Given the description of an element on the screen output the (x, y) to click on. 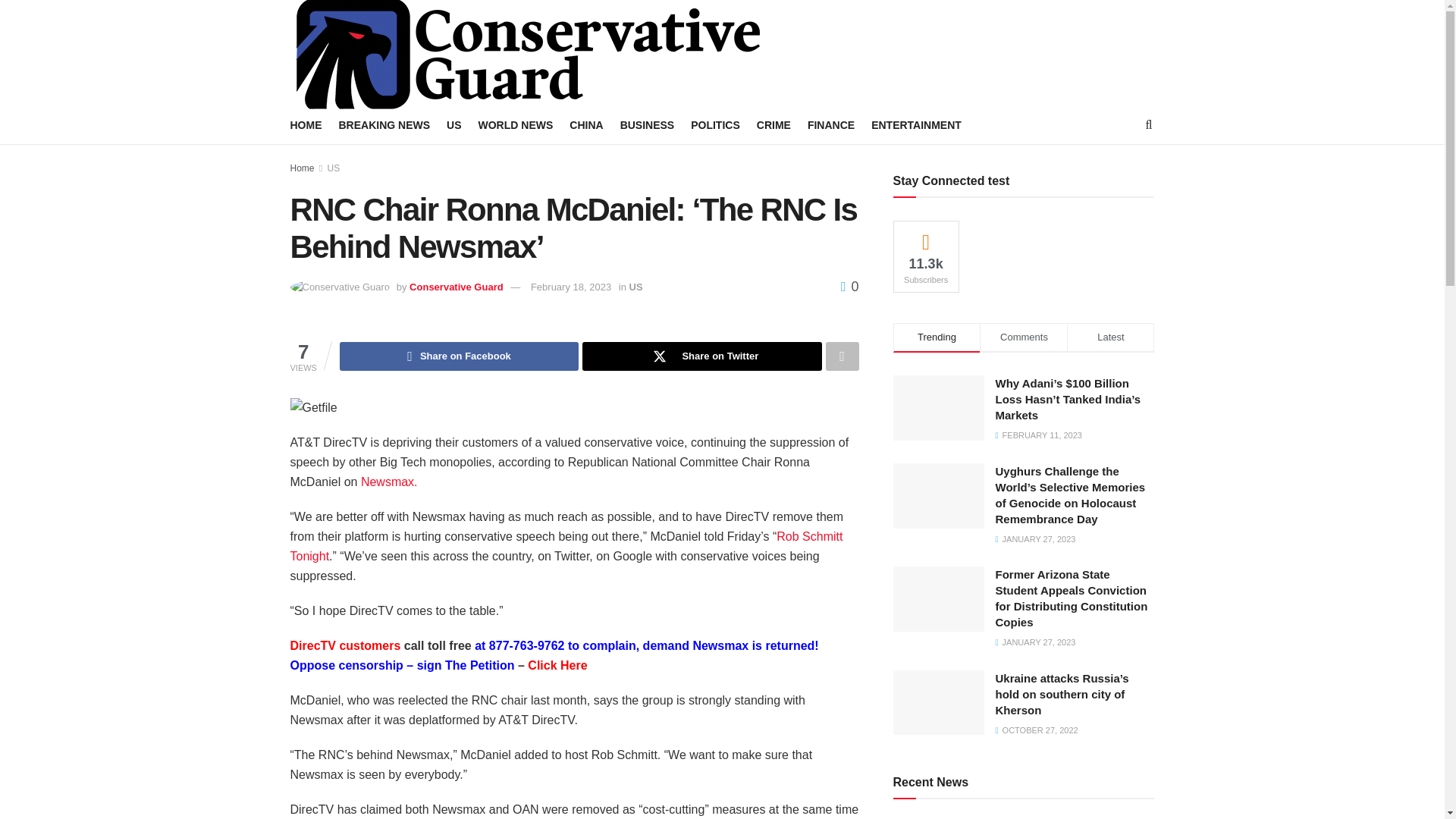
Home (301, 167)
Share on Twitter (701, 356)
US (333, 167)
BUSINESS (647, 124)
0 (850, 286)
WORLD NEWS (516, 124)
CHINA (585, 124)
HOME (305, 124)
Share on Facebook (458, 356)
FINANCE (831, 124)
